Given the description of an element on the screen output the (x, y) to click on. 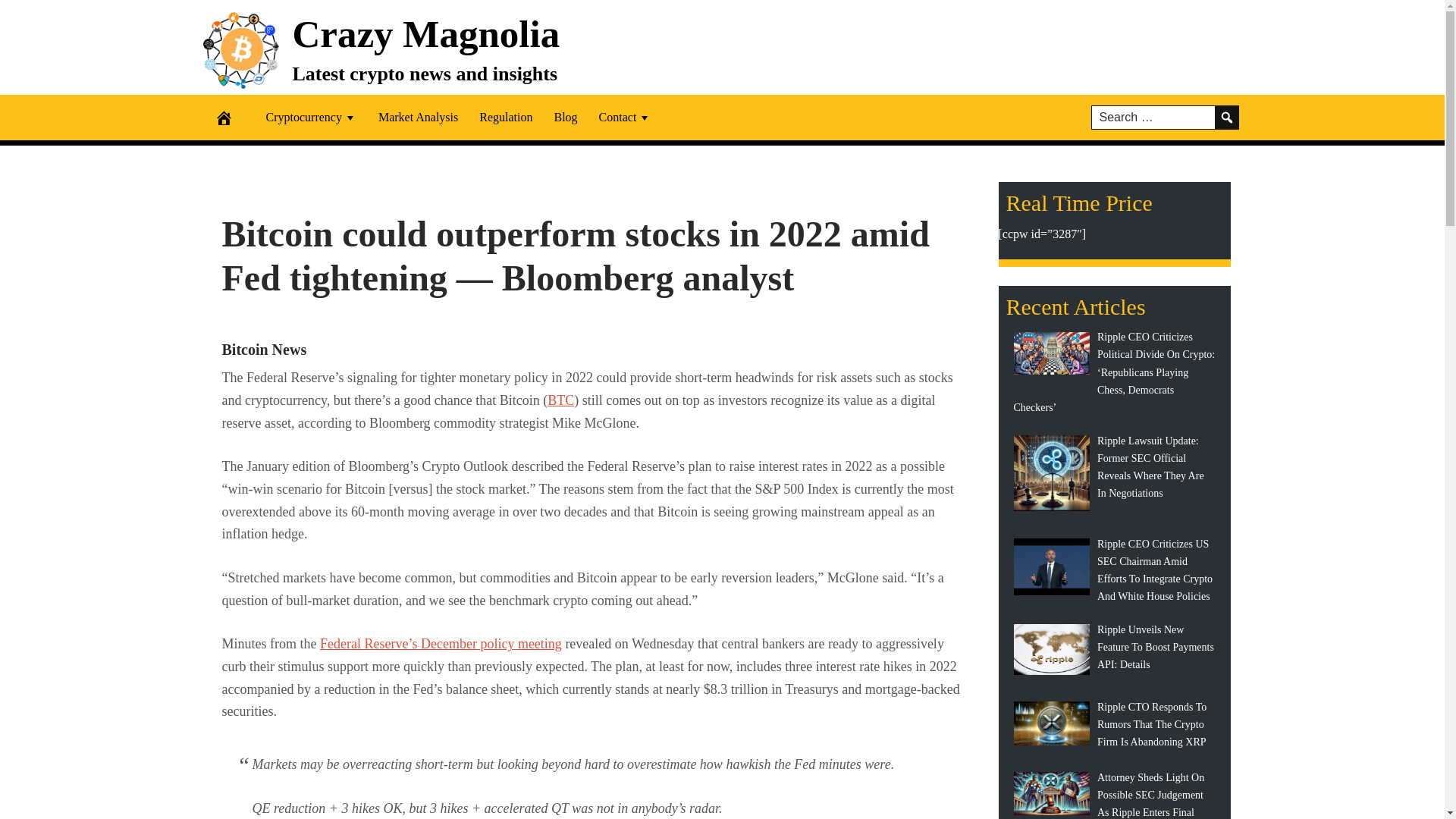
Cryptocurrency (310, 117)
Regulation (505, 117)
Bitcoin News (263, 349)
Contact (625, 117)
Market Analysis (418, 117)
Blog (565, 117)
Crazy Magnolia (426, 33)
